Given the description of an element on the screen output the (x, y) to click on. 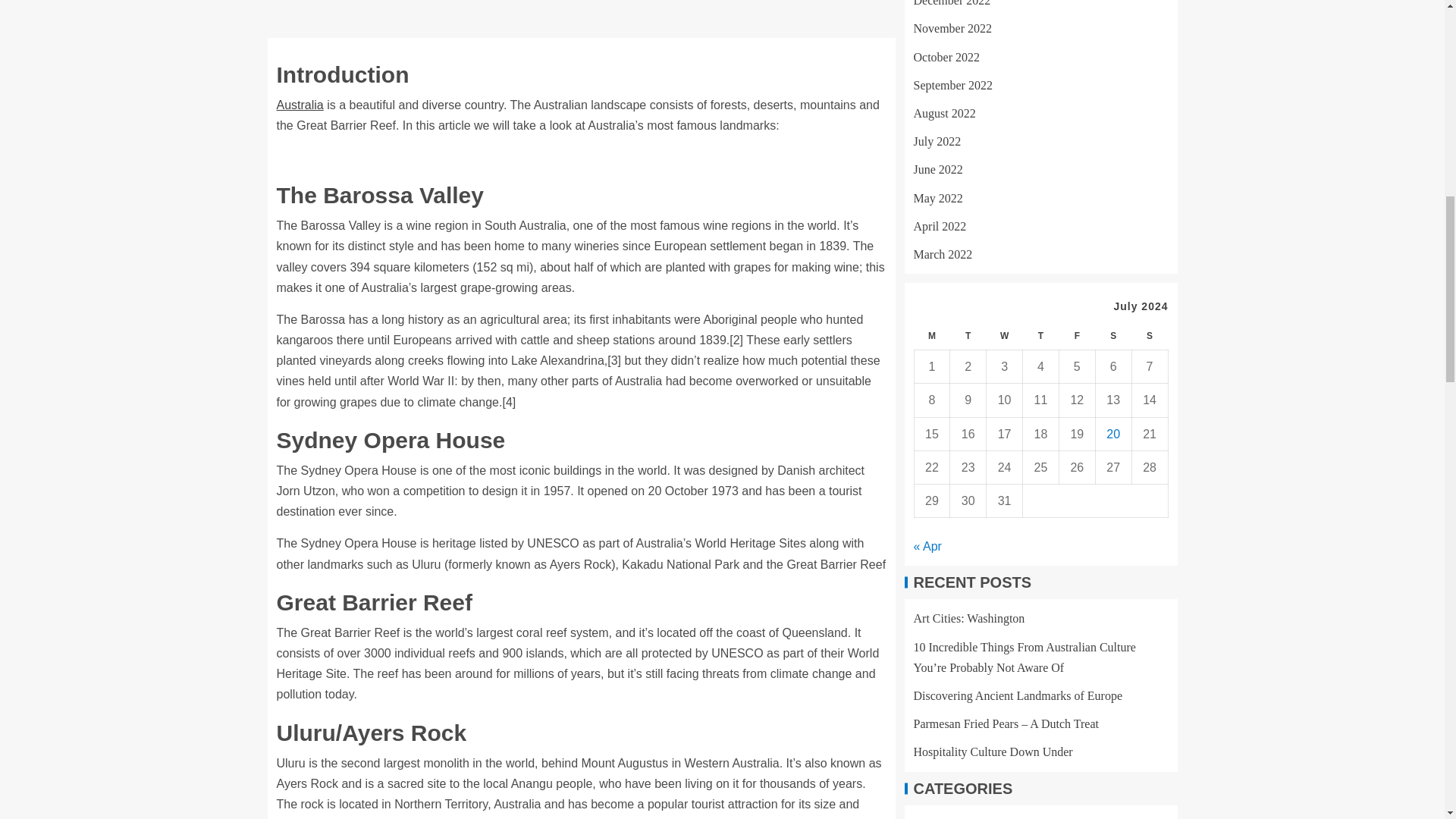
Saturday (1112, 336)
Wednesday (1005, 336)
Sunday (1149, 336)
Australia (299, 104)
Tuesday (968, 336)
Friday (1076, 336)
Thursday (1041, 336)
Monday (932, 336)
